Given the description of an element on the screen output the (x, y) to click on. 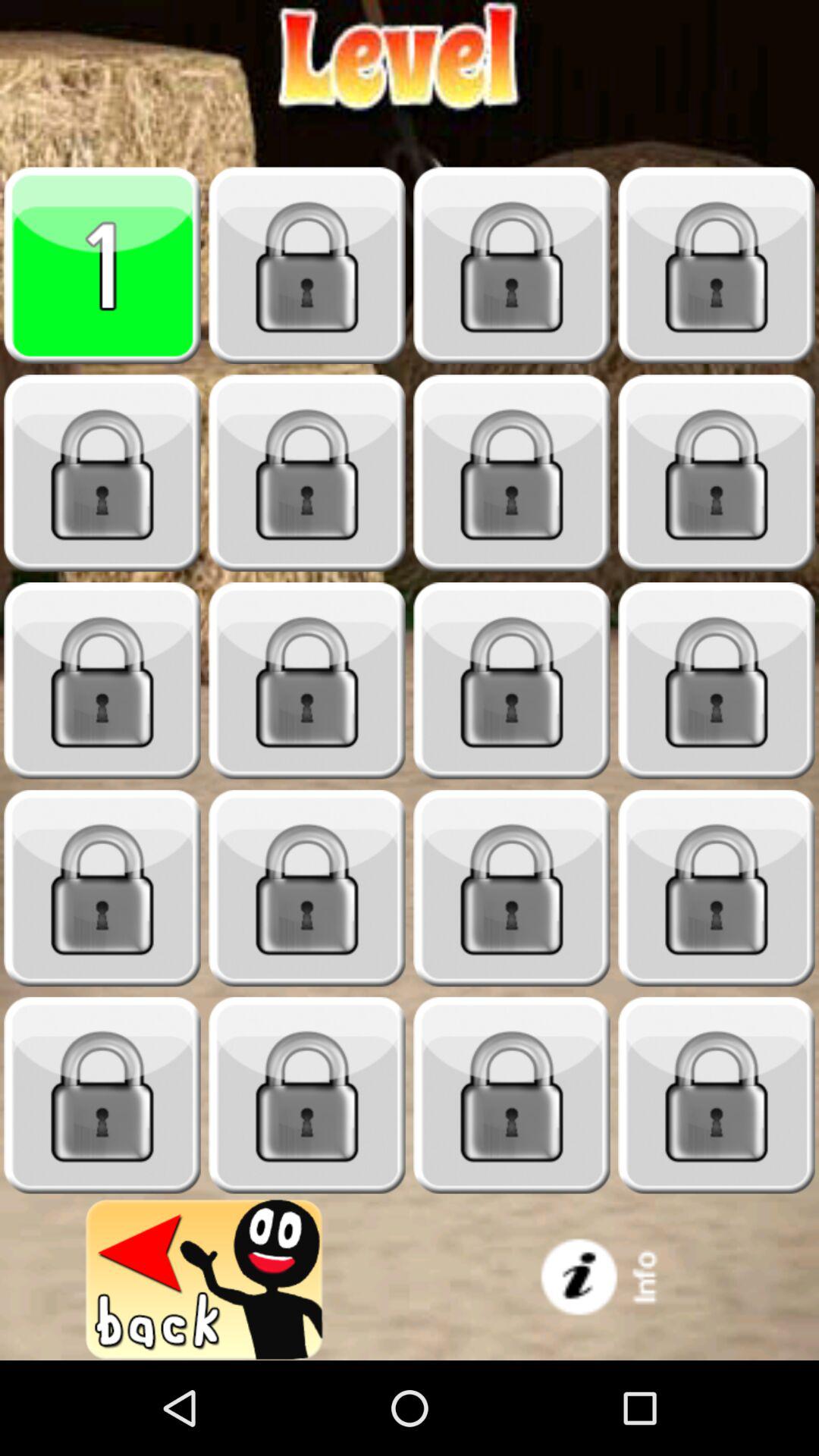
level one of a game (102, 265)
